Given the description of an element on the screen output the (x, y) to click on. 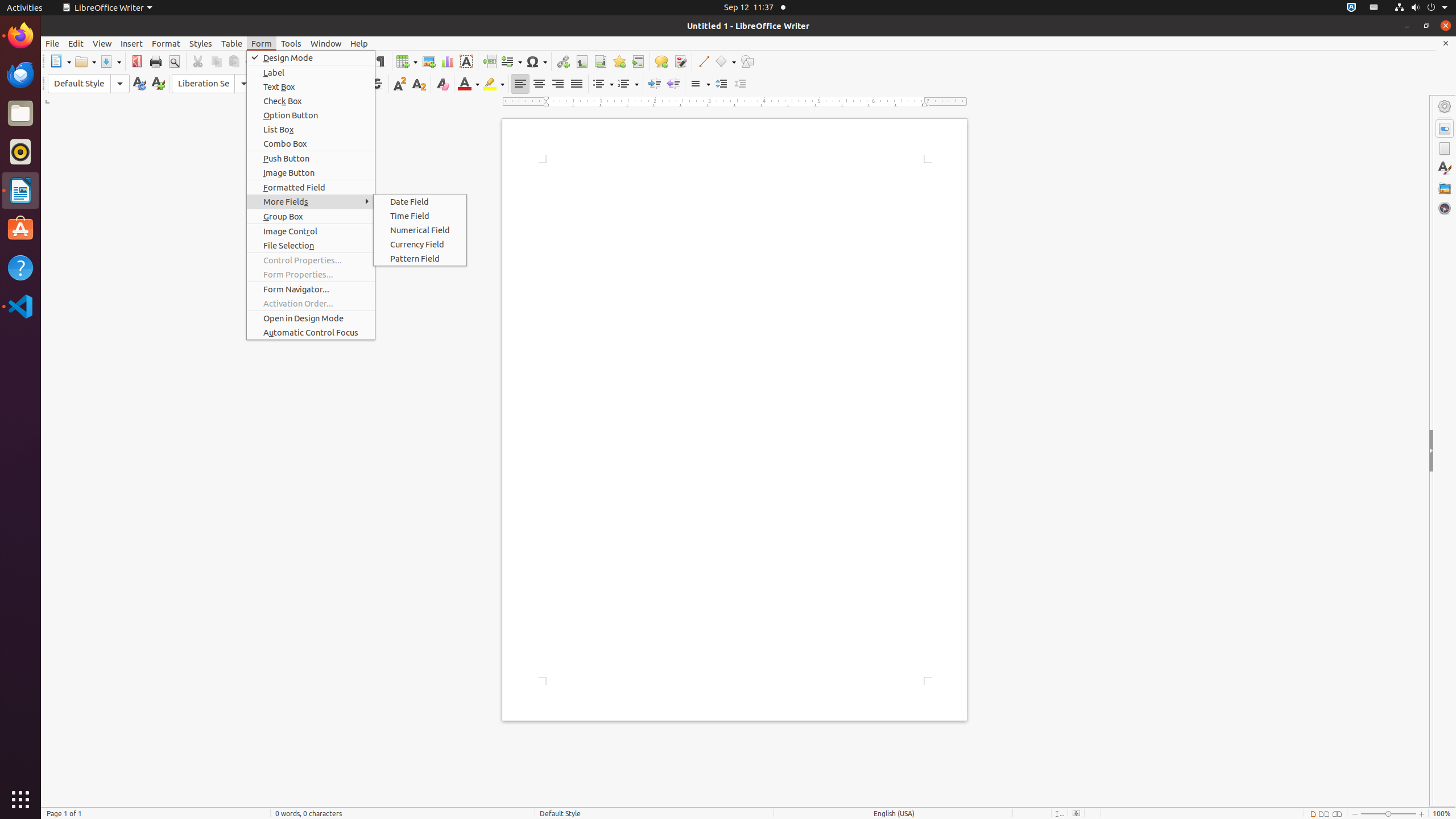
Formatting Marks Element type: toggle-button (379, 61)
Endnote Element type: push-button (599, 61)
Highlight Color Element type: push-button (493, 83)
Ubuntu Software Element type: push-button (20, 229)
Form Properties... Element type: menu-item (310, 274)
